Given the description of an element on the screen output the (x, y) to click on. 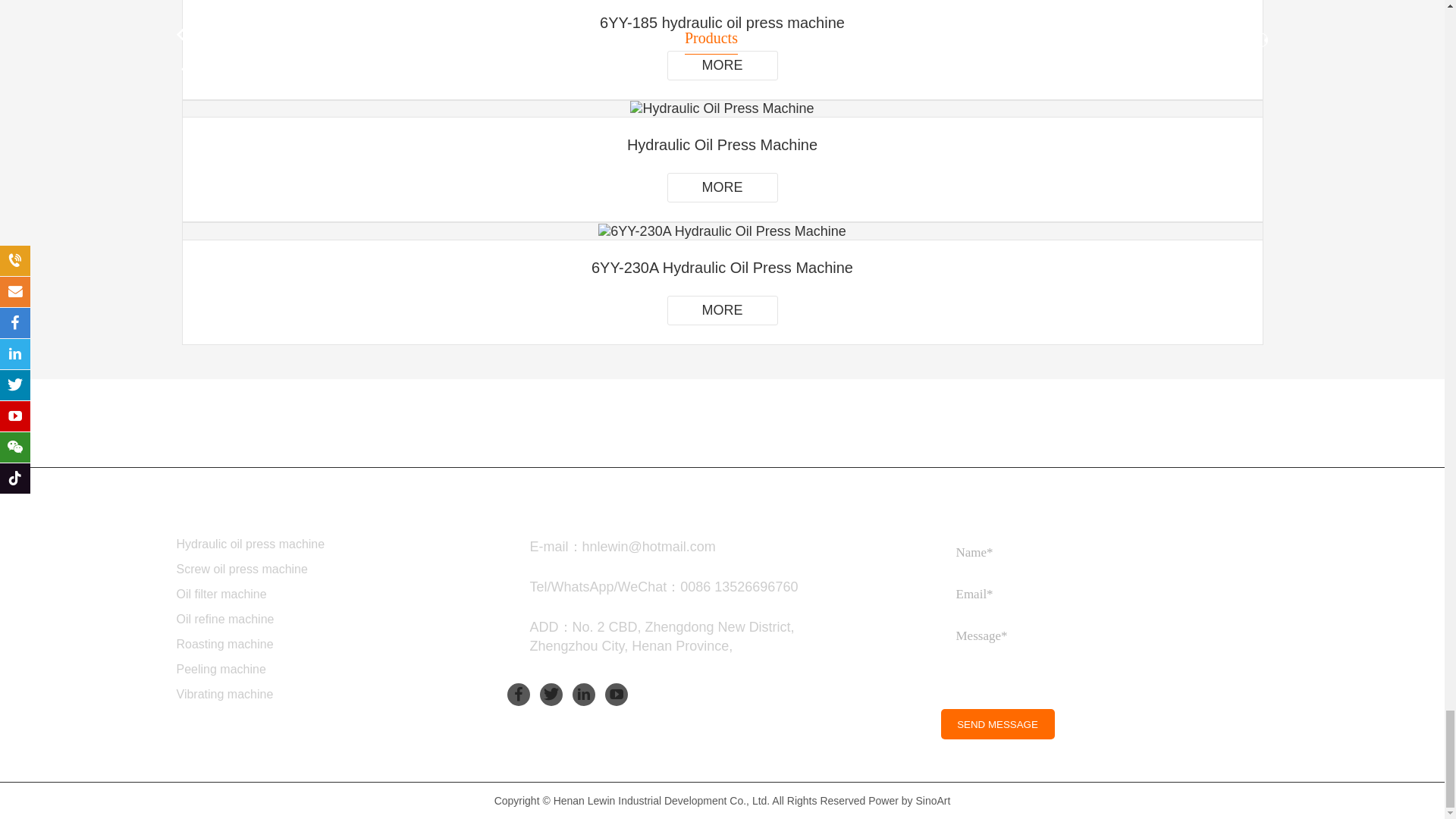
linkedin (583, 694)
twitter (551, 694)
facebook (517, 694)
